Given the description of an element on the screen output the (x, y) to click on. 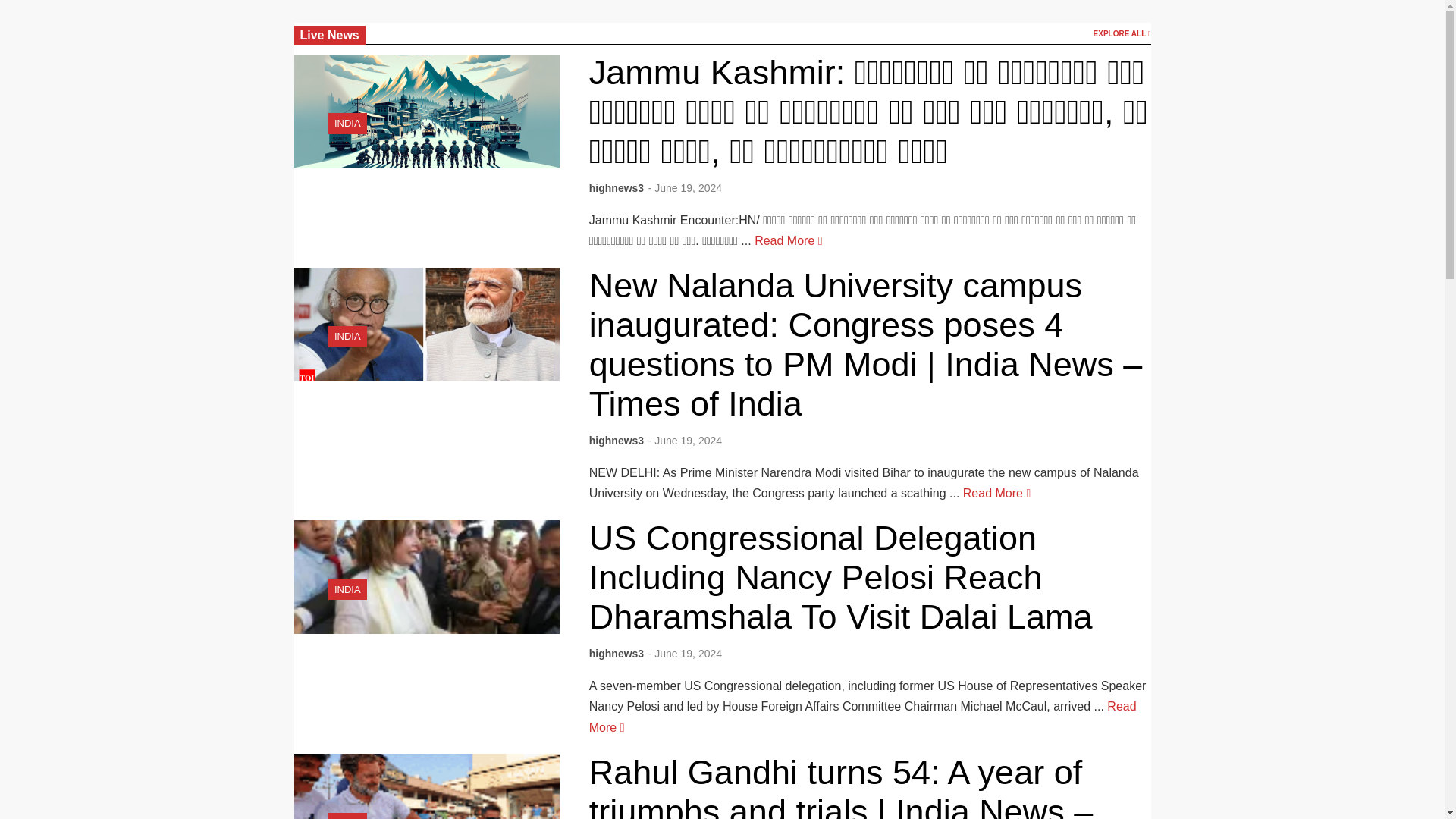
INDIA (347, 336)
Read More (996, 492)
Read More (863, 716)
INDIA (347, 122)
INDIA (347, 818)
INDIA (347, 122)
